Given the description of an element on the screen output the (x, y) to click on. 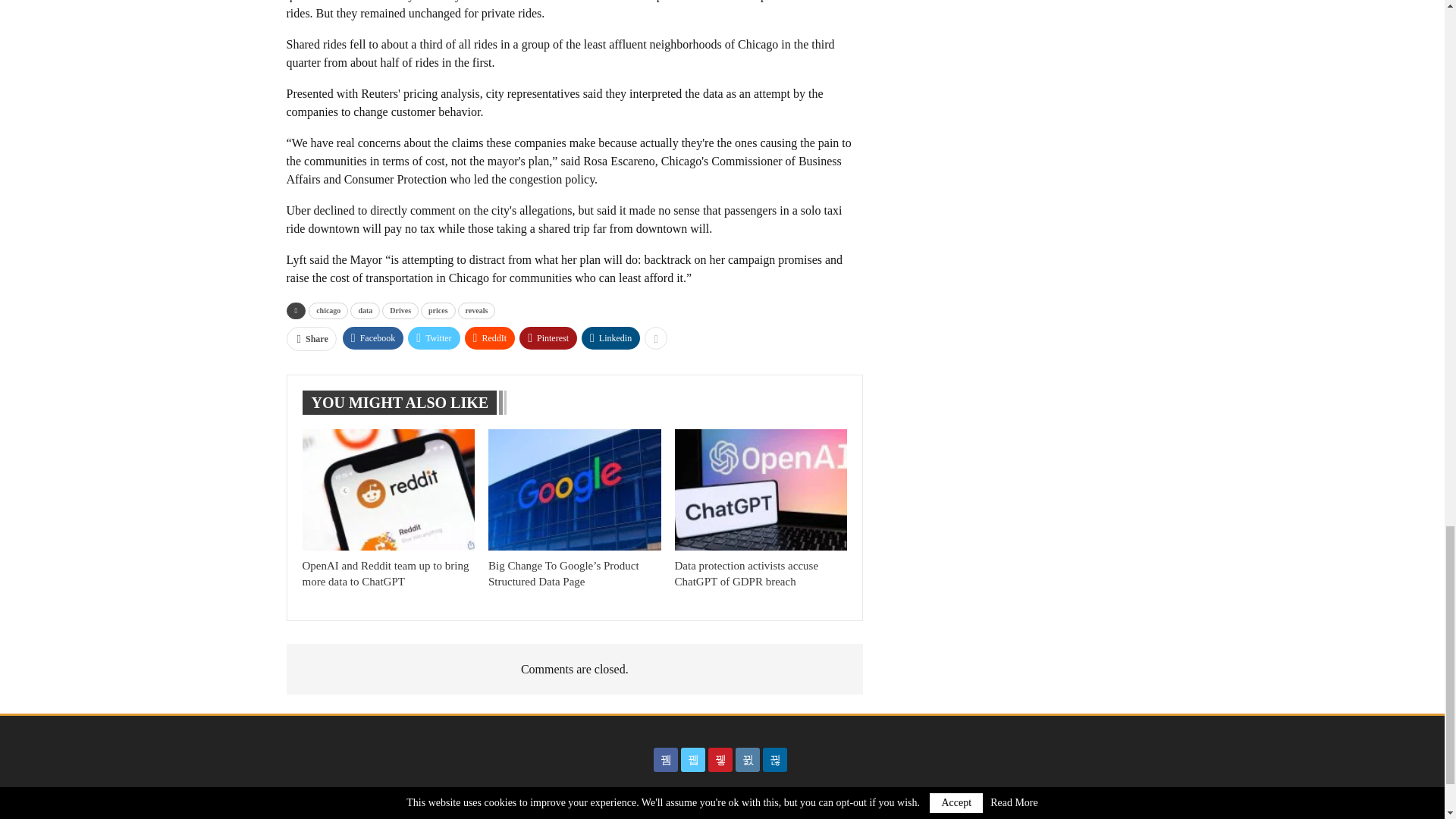
data (365, 310)
OpenAI and Reddit team up to bring more data to ChatGPT (384, 573)
Twitter (433, 336)
Data protection activists accuse ChatGPT of GDPR breach (746, 573)
Drives (400, 310)
OpenAI and Reddit team up to bring more data to ChatGPT (387, 489)
Pinterest (547, 336)
ReddIt (489, 336)
reveals (477, 310)
Data protection activists accuse ChatGPT of GDPR breach (761, 489)
prices (437, 310)
Facebook (373, 336)
chicago (327, 310)
